Given the description of an element on the screen output the (x, y) to click on. 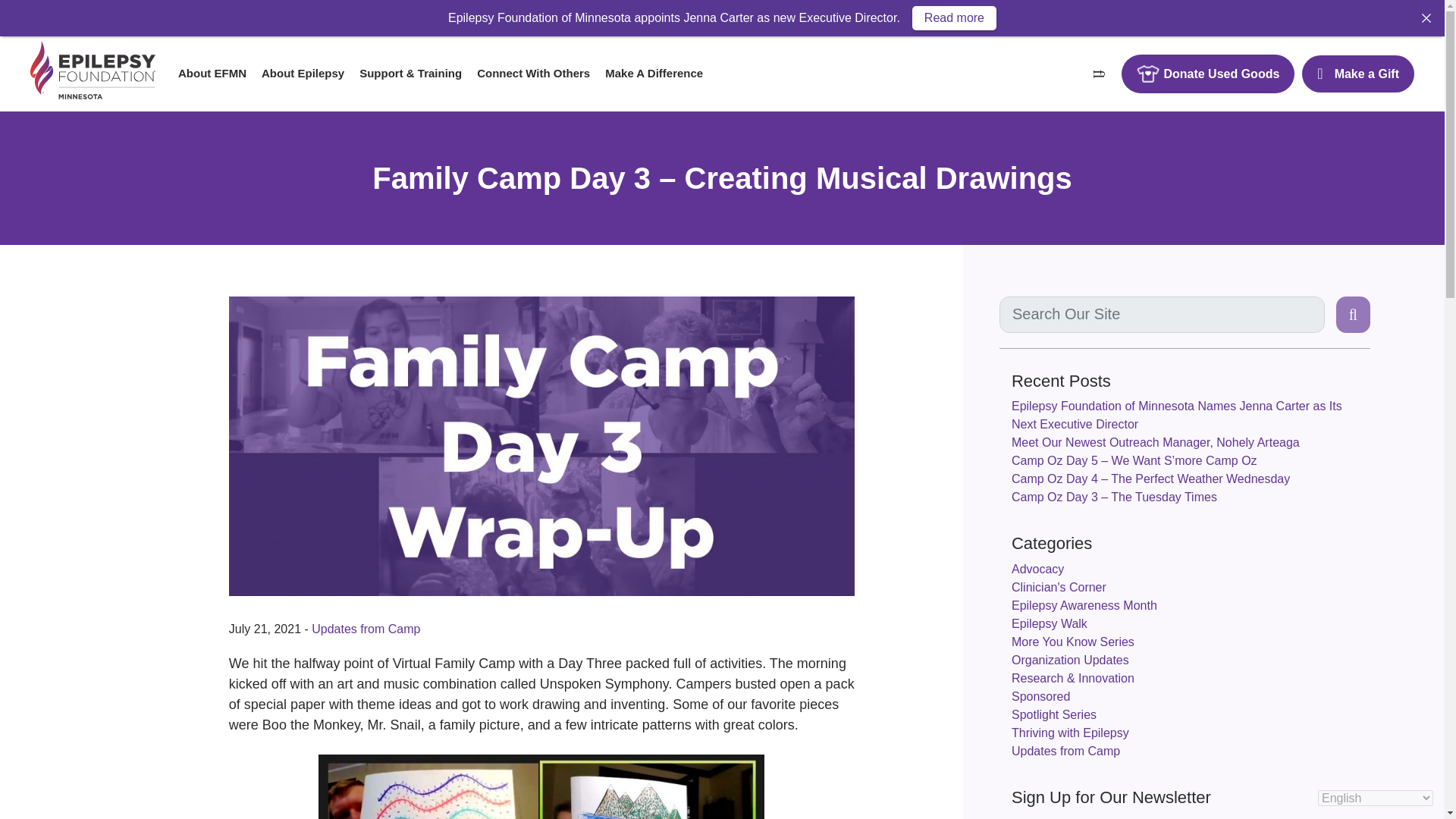
Connect With Others (532, 73)
About EFMN (211, 73)
About Epilepsy (303, 73)
Make A Difference (653, 73)
Close (1425, 17)
